Given the description of an element on the screen output the (x, y) to click on. 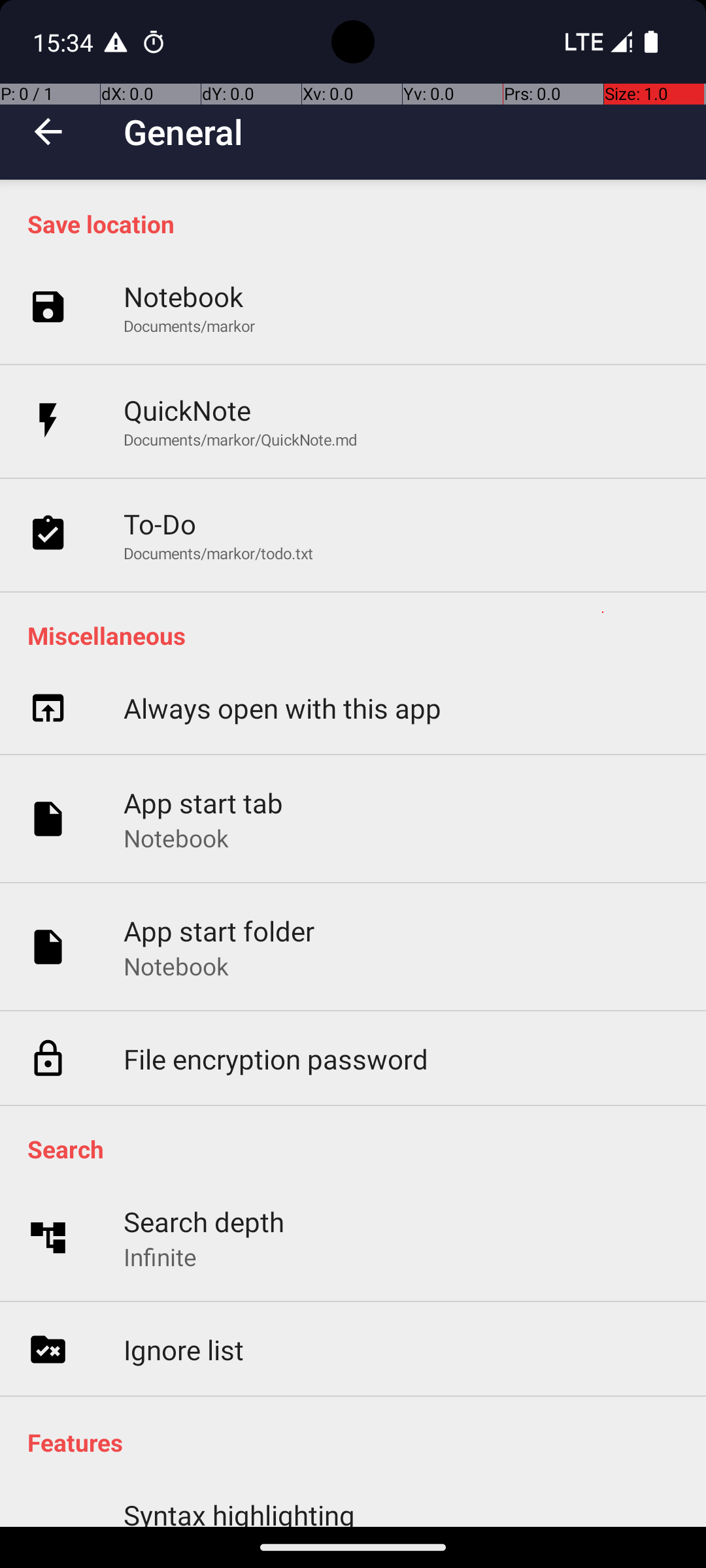
General Element type: android.widget.TextView (183, 131)
Save location Element type: android.widget.TextView (359, 223)
Miscellaneous Element type: android.widget.TextView (359, 635)
Features Element type: android.widget.TextView (359, 1441)
Notebook Element type: android.widget.TextView (183, 295)
Documents/markor Element type: android.widget.TextView (188, 325)
Documents/markor/QuickNote.md Element type: android.widget.TextView (239, 439)
Documents/markor/todo.txt Element type: android.widget.TextView (218, 552)
Always open with this app Element type: android.widget.TextView (282, 707)
App start tab Element type: android.widget.TextView (203, 802)
App start folder Element type: android.widget.TextView (219, 930)
File encryption password Element type: android.widget.TextView (275, 1058)
Search depth Element type: android.widget.TextView (203, 1221)
Infinite Element type: android.widget.TextView (159, 1256)
Ignore list Element type: android.widget.TextView (183, 1349)
Syntax highlighting Element type: android.widget.TextView (238, 1511)
